Given the description of an element on the screen output the (x, y) to click on. 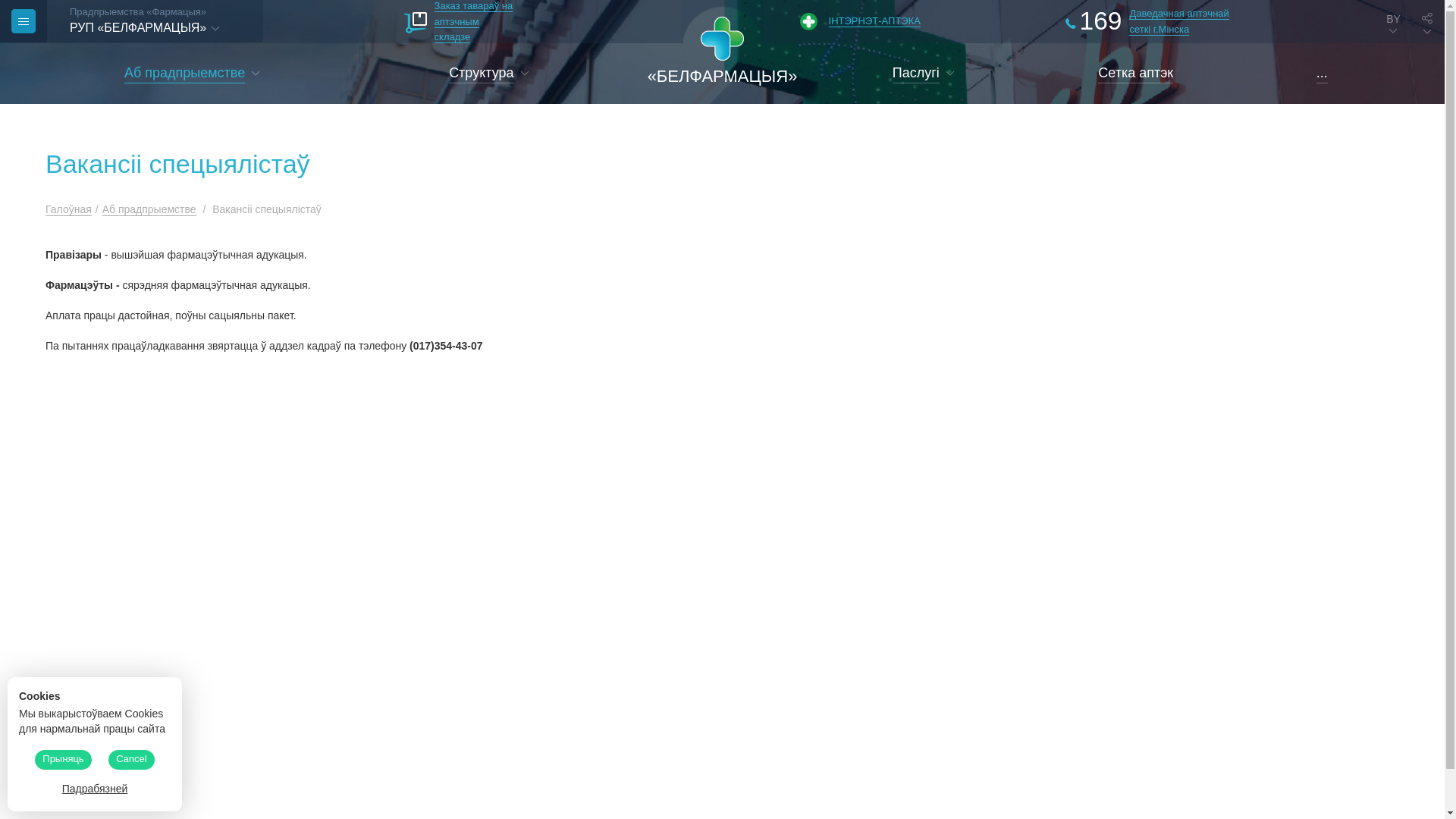
... Element type: text (1321, 73)
